Given the description of an element on the screen output the (x, y) to click on. 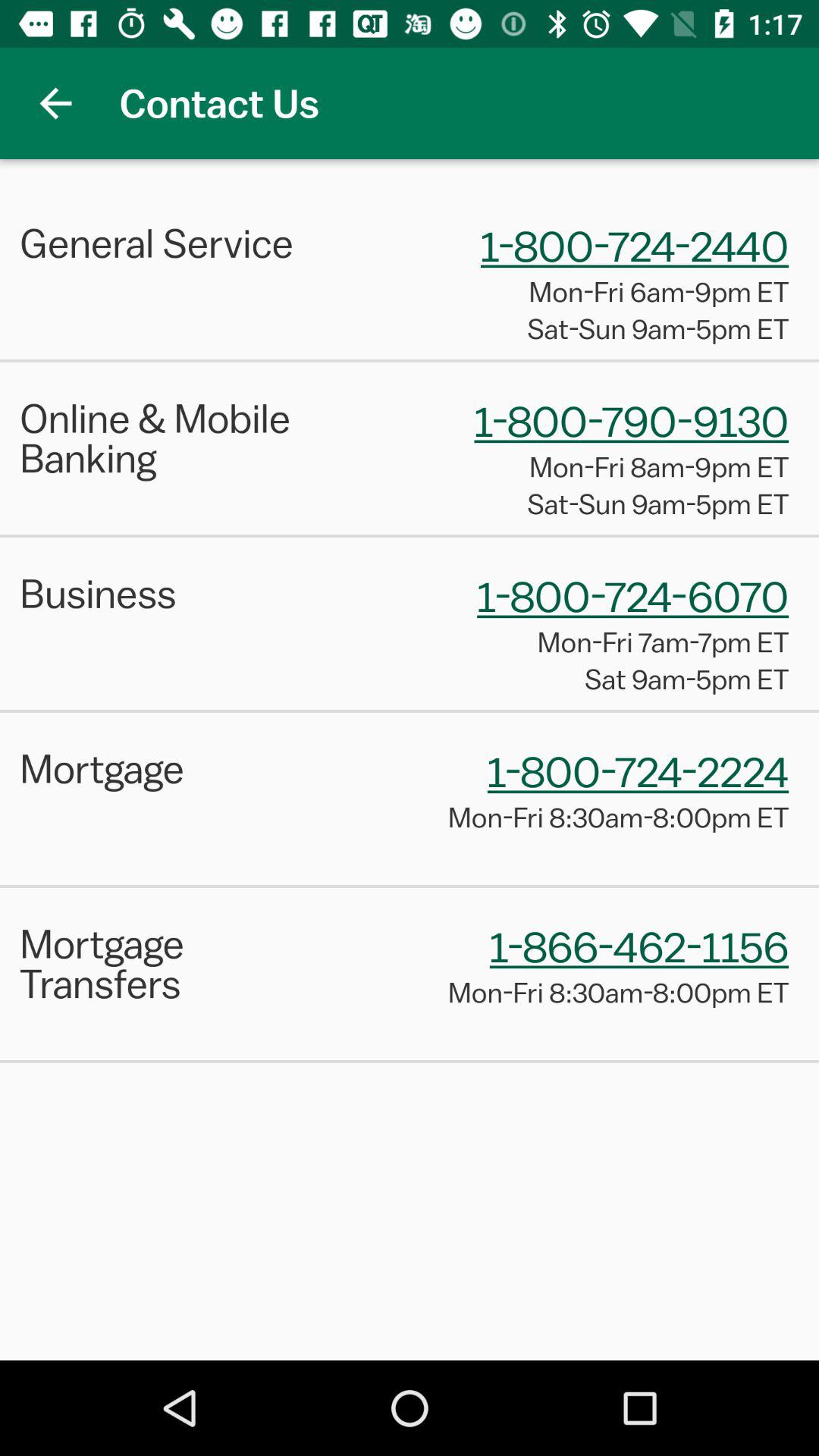
press the item above the online & mobile banking item (409, 360)
